Given the description of an element on the screen output the (x, y) to click on. 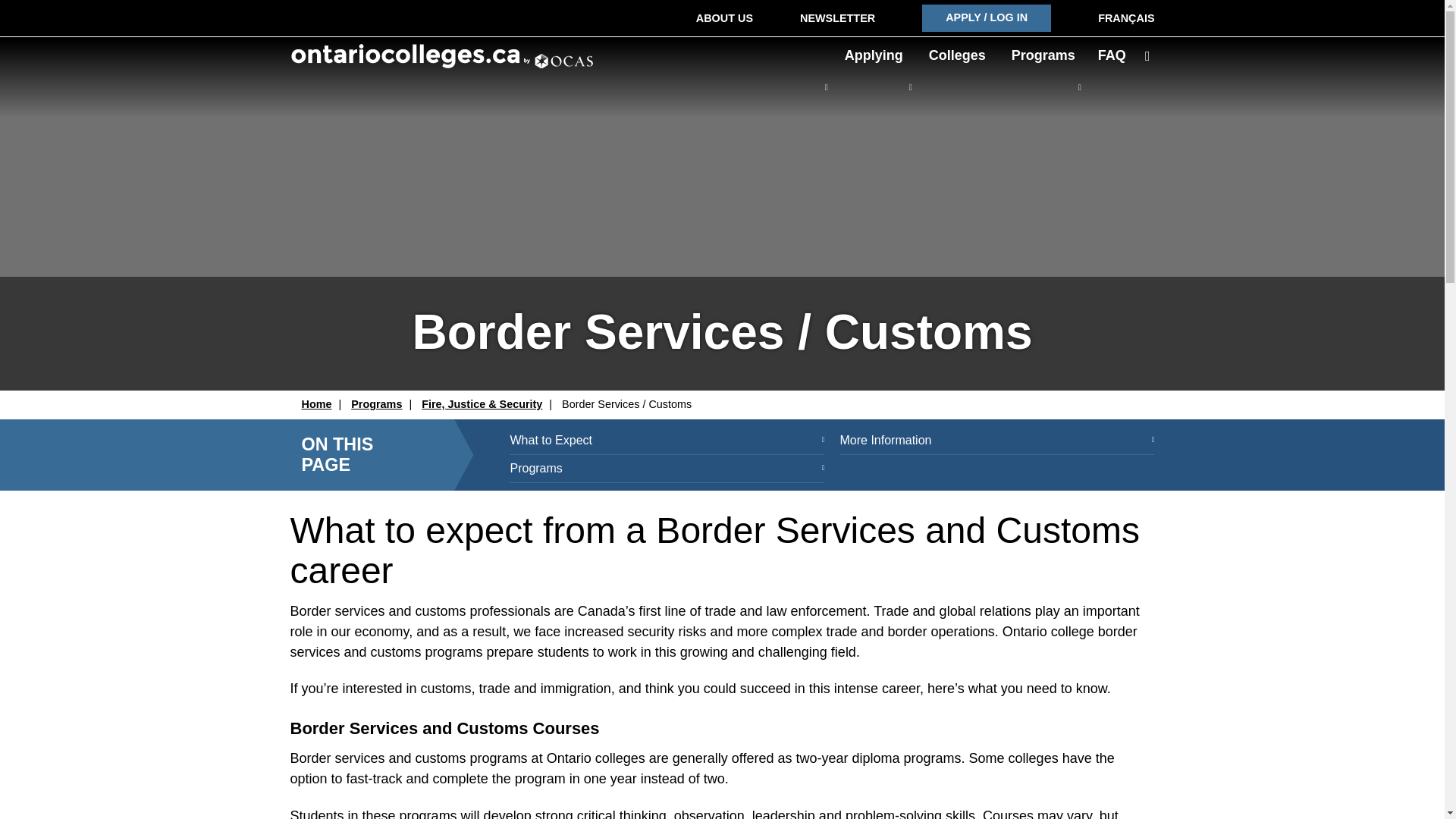
ABOUT US (723, 18)
Applying (873, 55)
What to Expect (666, 440)
Home (316, 404)
Programs (666, 469)
More Information (997, 440)
NEWSLETTER (837, 18)
FAQ (1111, 55)
Programs (1043, 55)
Newsletter (837, 18)
